Given the description of an element on the screen output the (x, y) to click on. 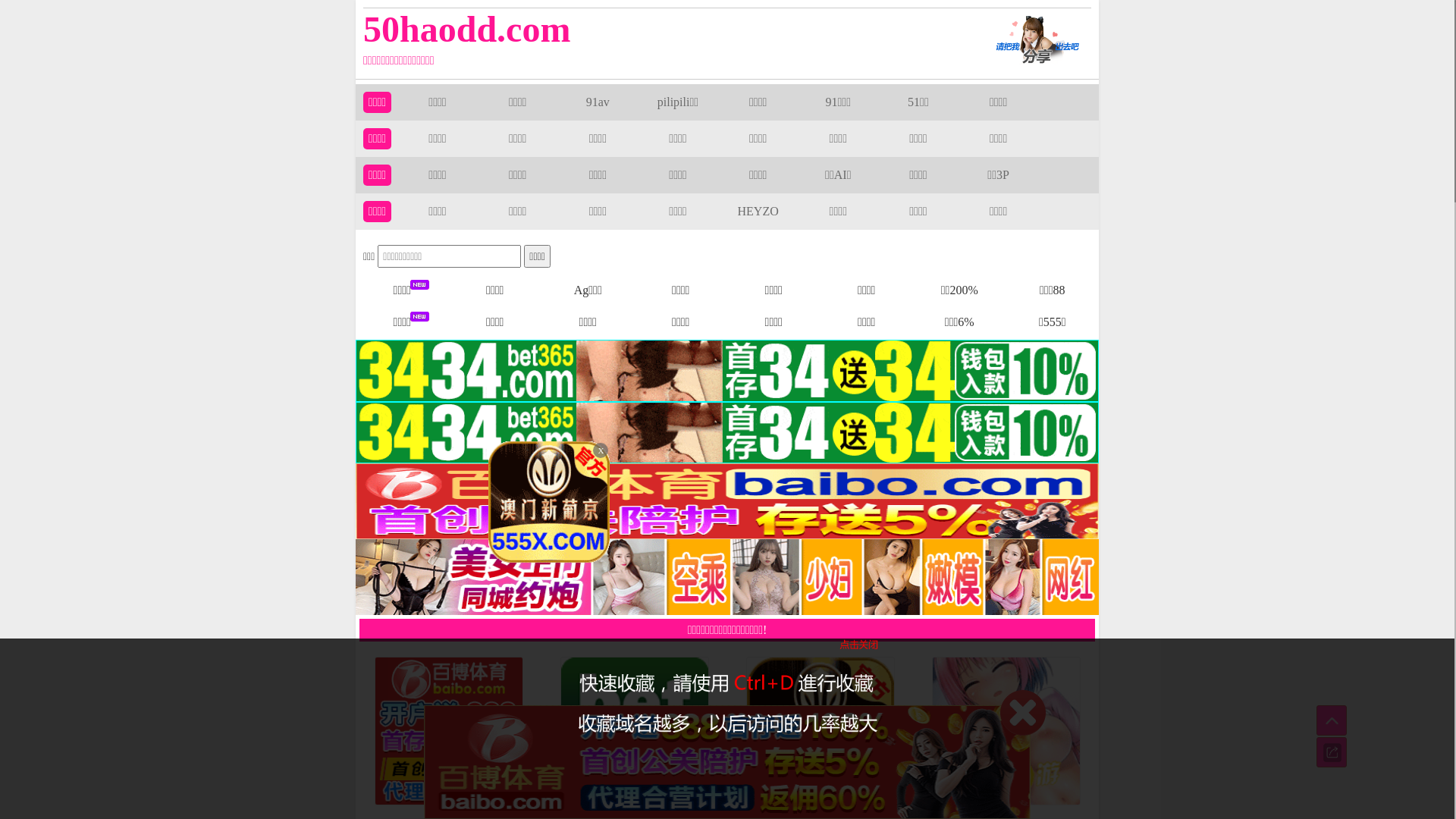
91av Element type: text (597, 101)
50haodd.com Element type: text (654, 29)
HEYZO Element type: text (757, 210)
